Given the description of an element on the screen output the (x, y) to click on. 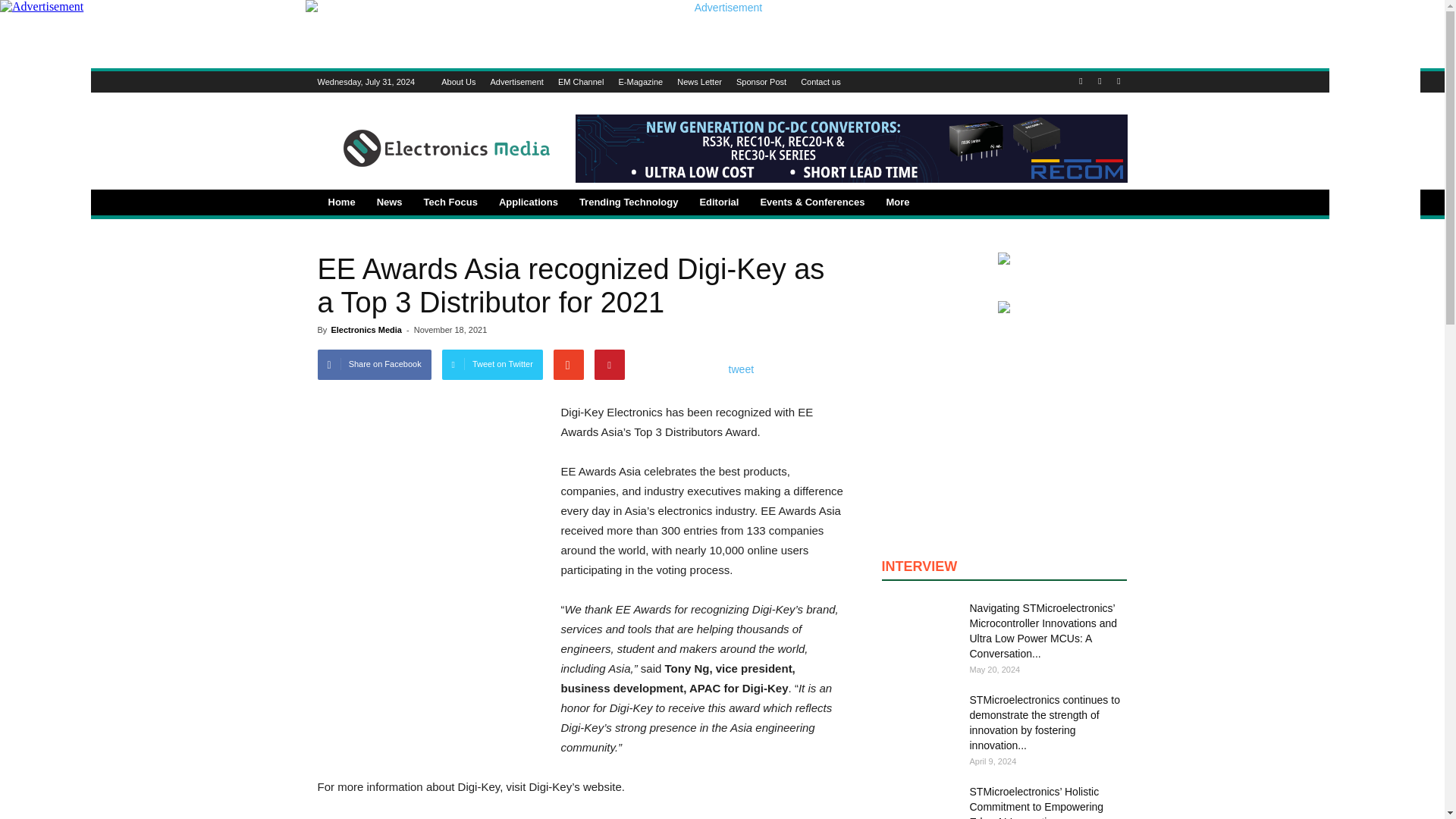
advertisement (430, 677)
